Given the description of an element on the screen output the (x, y) to click on. 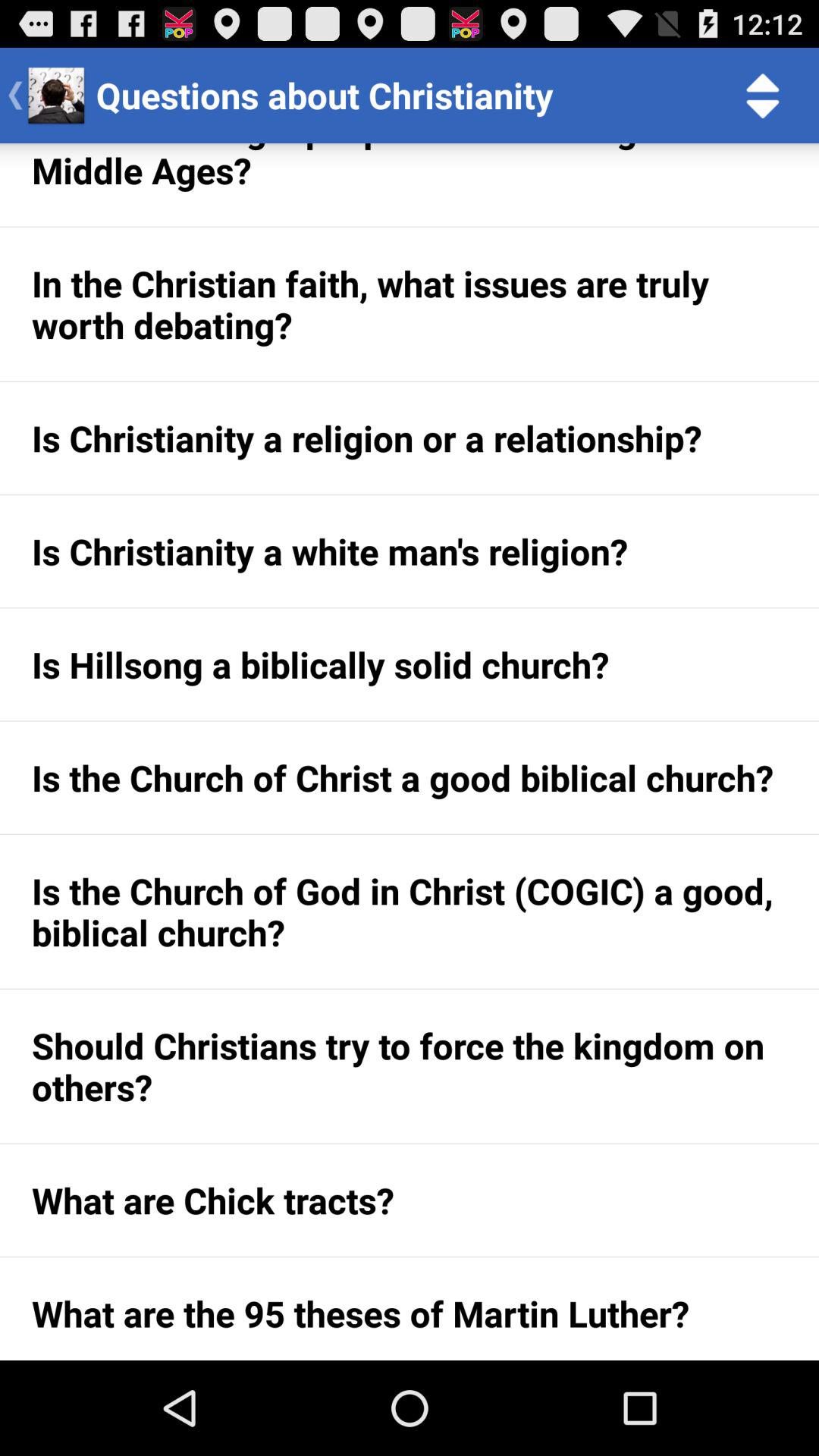
launch should christians try app (409, 1066)
